Given the description of an element on the screen output the (x, y) to click on. 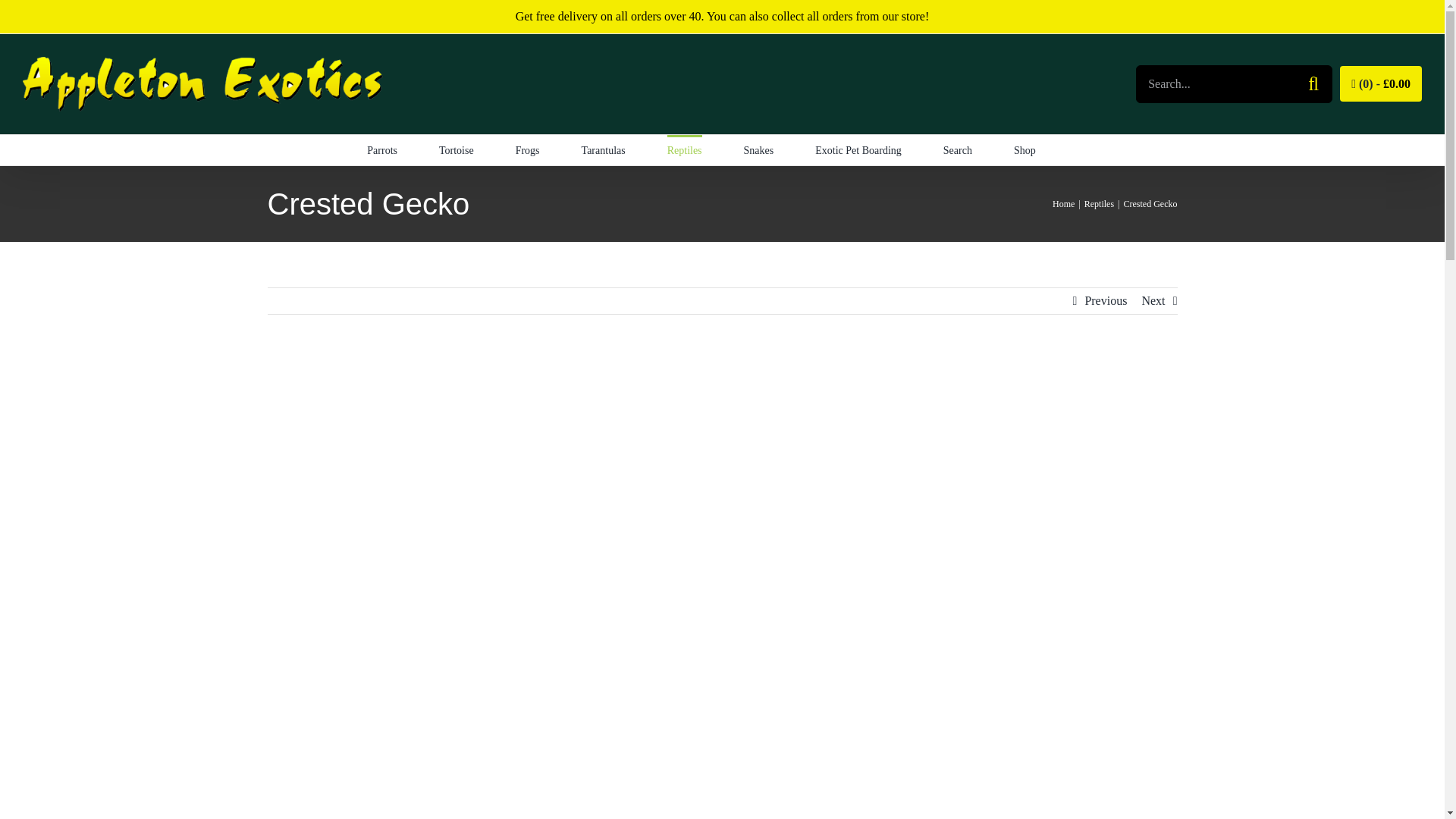
Reptiles (683, 150)
Parrots (381, 150)
Tarantulas (603, 150)
Tortoise (456, 150)
